Given the description of an element on the screen output the (x, y) to click on. 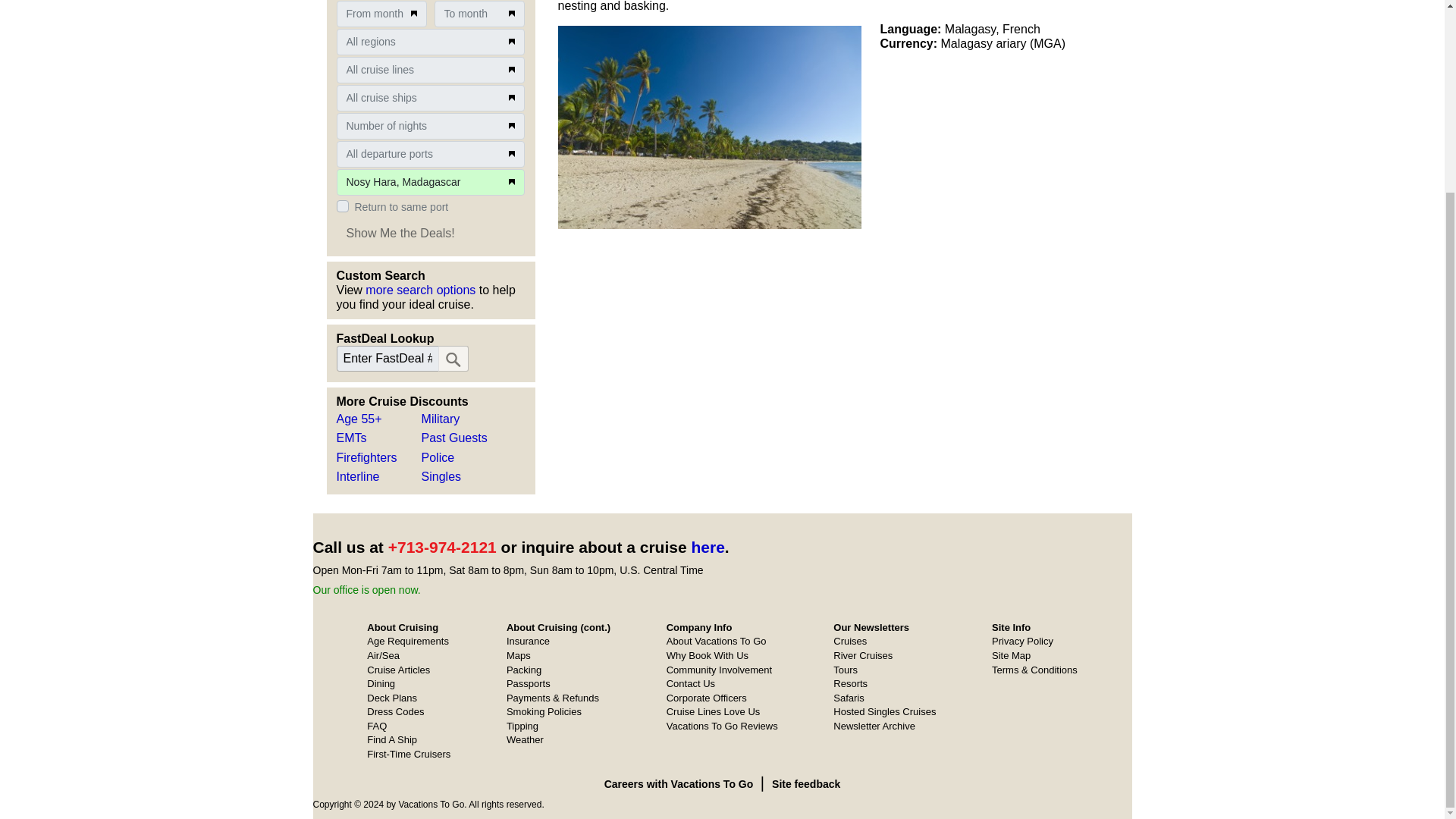
Show Me the Deals! (400, 232)
